Given the description of an element on the screen output the (x, y) to click on. 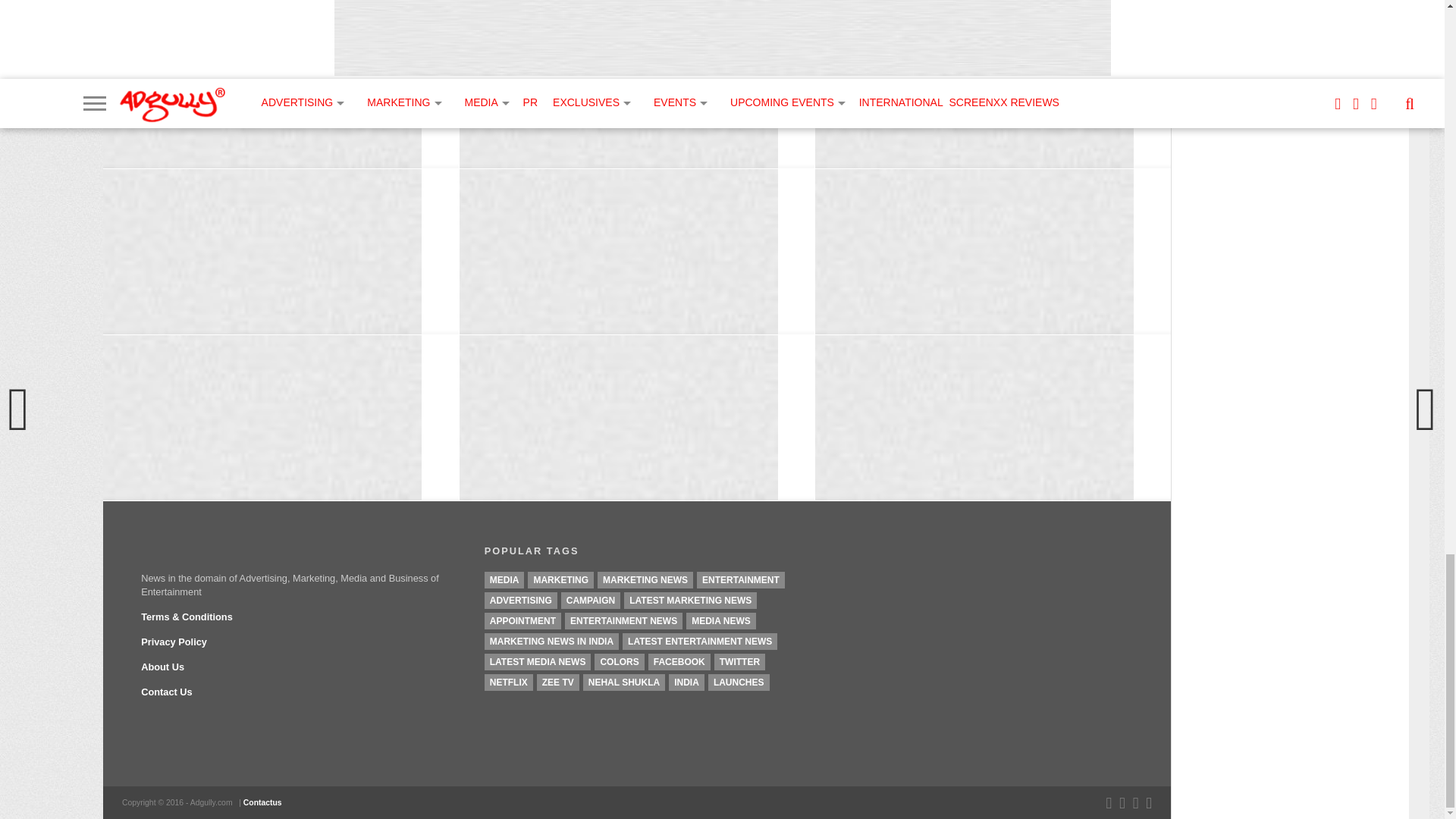
Campaign (590, 600)
Appointment (522, 620)
Entertainment (740, 579)
Media (504, 579)
Marketing (560, 579)
Entertainment News (623, 620)
Marketing News (644, 579)
Advertising (520, 600)
Latest Marketing News (690, 600)
